Given the description of an element on the screen output the (x, y) to click on. 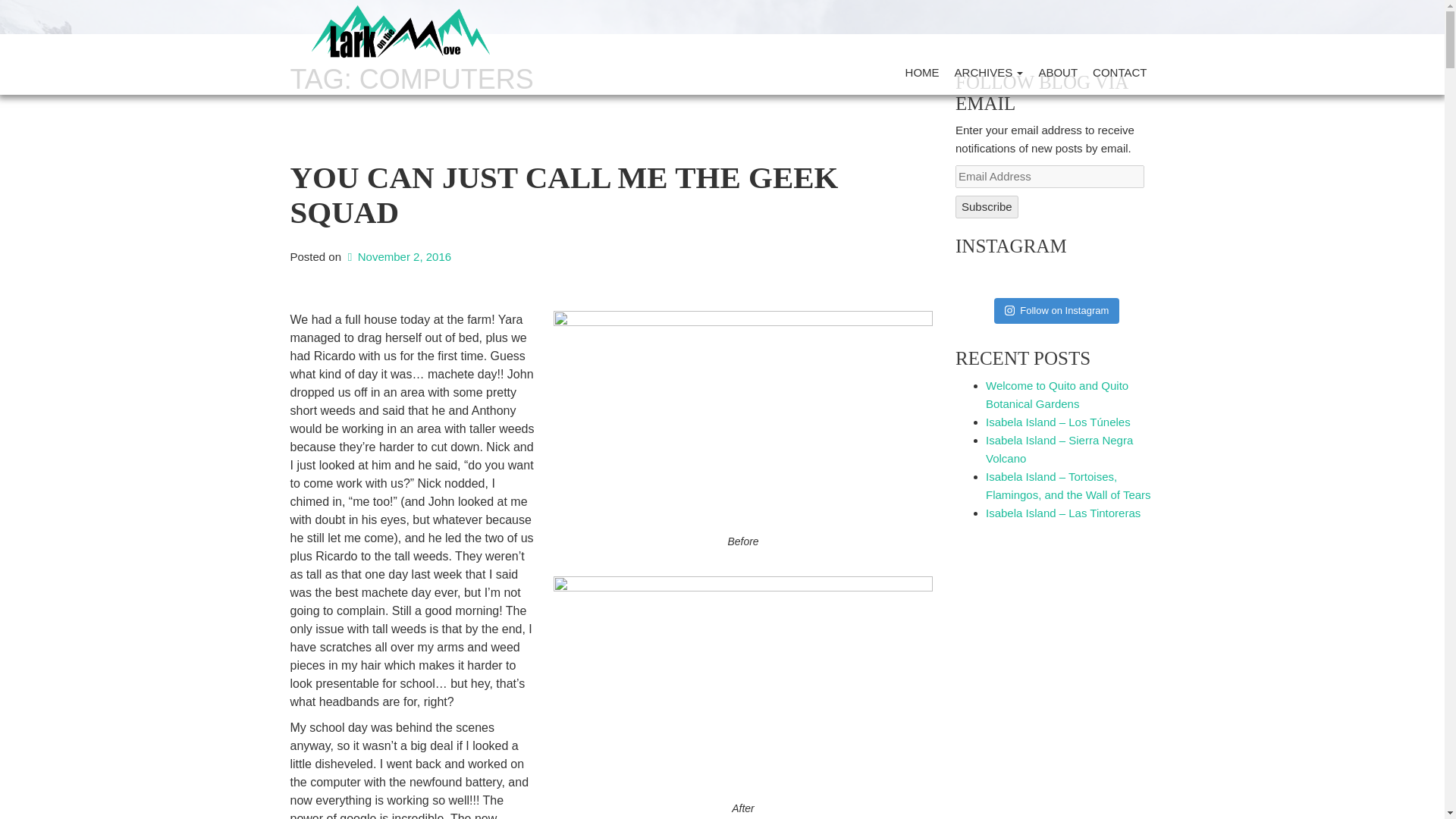
CONTACT (1119, 72)
HOME (922, 72)
YOU CAN JUST CALL ME THE GEEK SQUAD (563, 209)
November 2, 2016 (397, 256)
ABOUT (1057, 72)
ARCHIVES (988, 72)
